Given the description of an element on the screen output the (x, y) to click on. 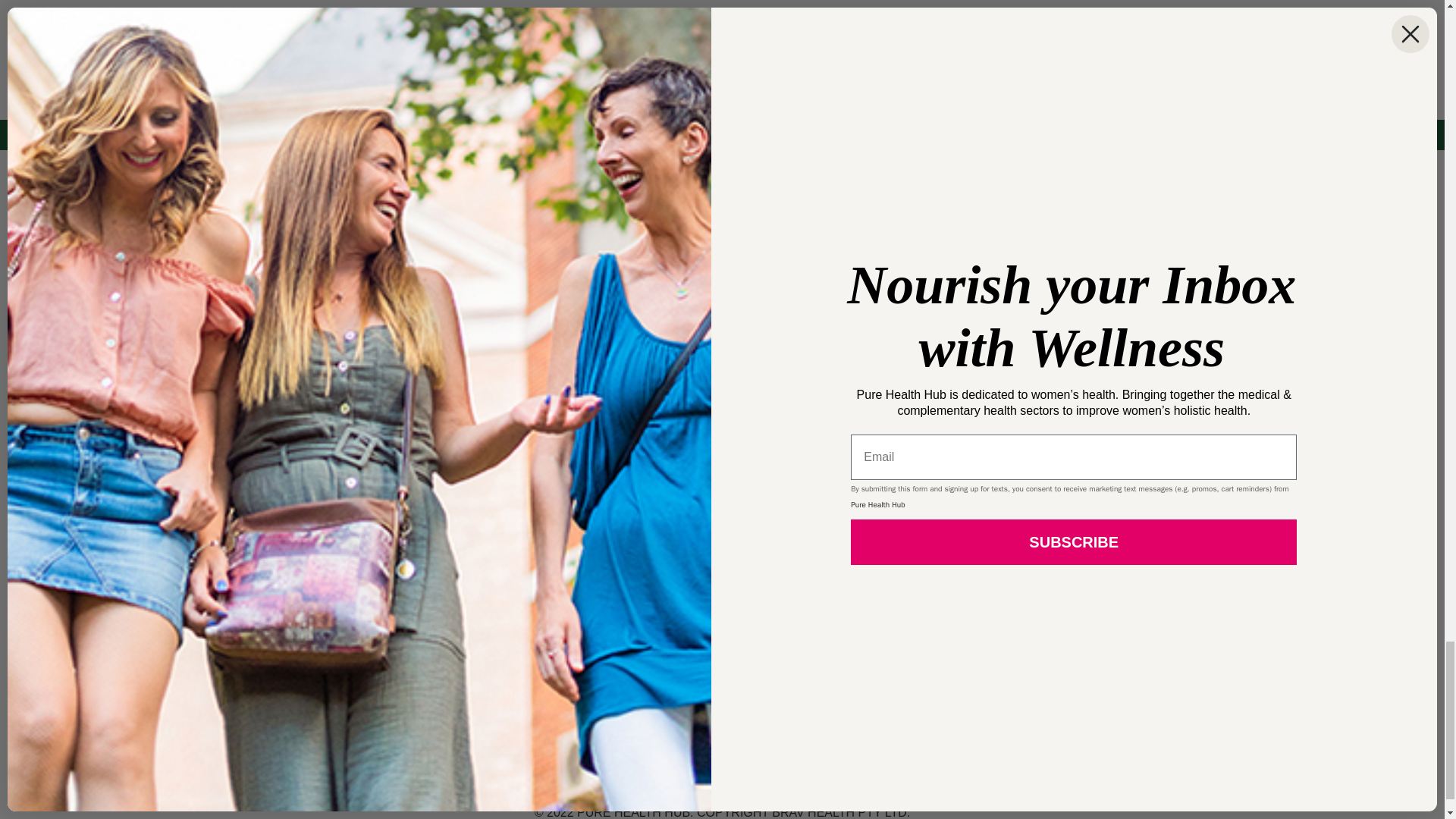
Post Comment (346, 21)
